Given the description of an element on the screen output the (x, y) to click on. 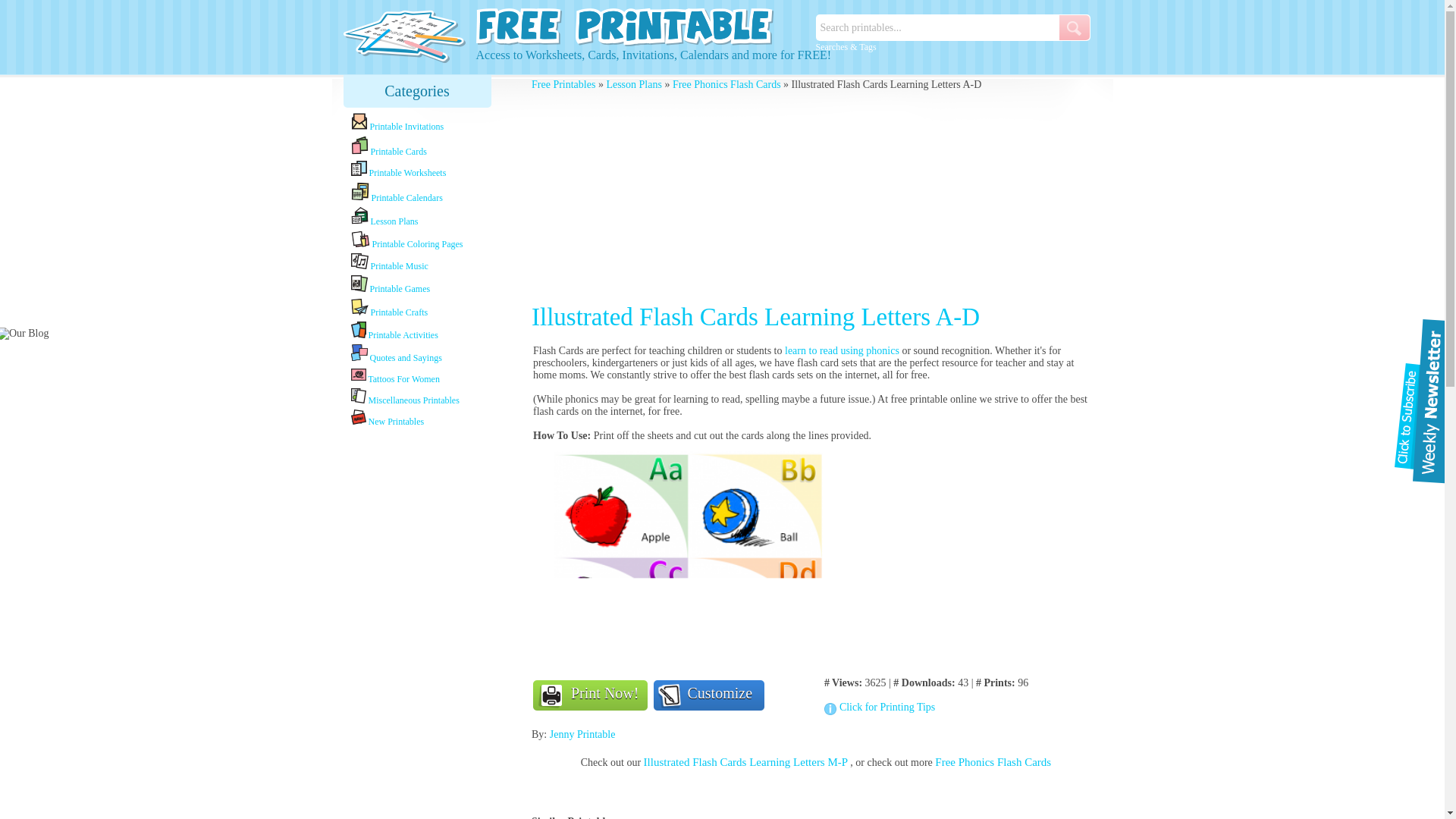
Free Printables (563, 84)
Lesson Plans (633, 84)
Tattoos For Women (423, 375)
Printable Crafts (423, 308)
Printable Coloring Pages (423, 240)
Miscellaneous Printables (423, 397)
Free Phonics Flash Cards (992, 761)
Search printables... (936, 27)
Lesson Plans (423, 217)
Printable Cards (423, 146)
Click for Printing Tips (961, 707)
Quotes and Sayings (423, 353)
Illustrated Flash Cards Learning Letters M-P (746, 761)
